Given the description of an element on the screen output the (x, y) to click on. 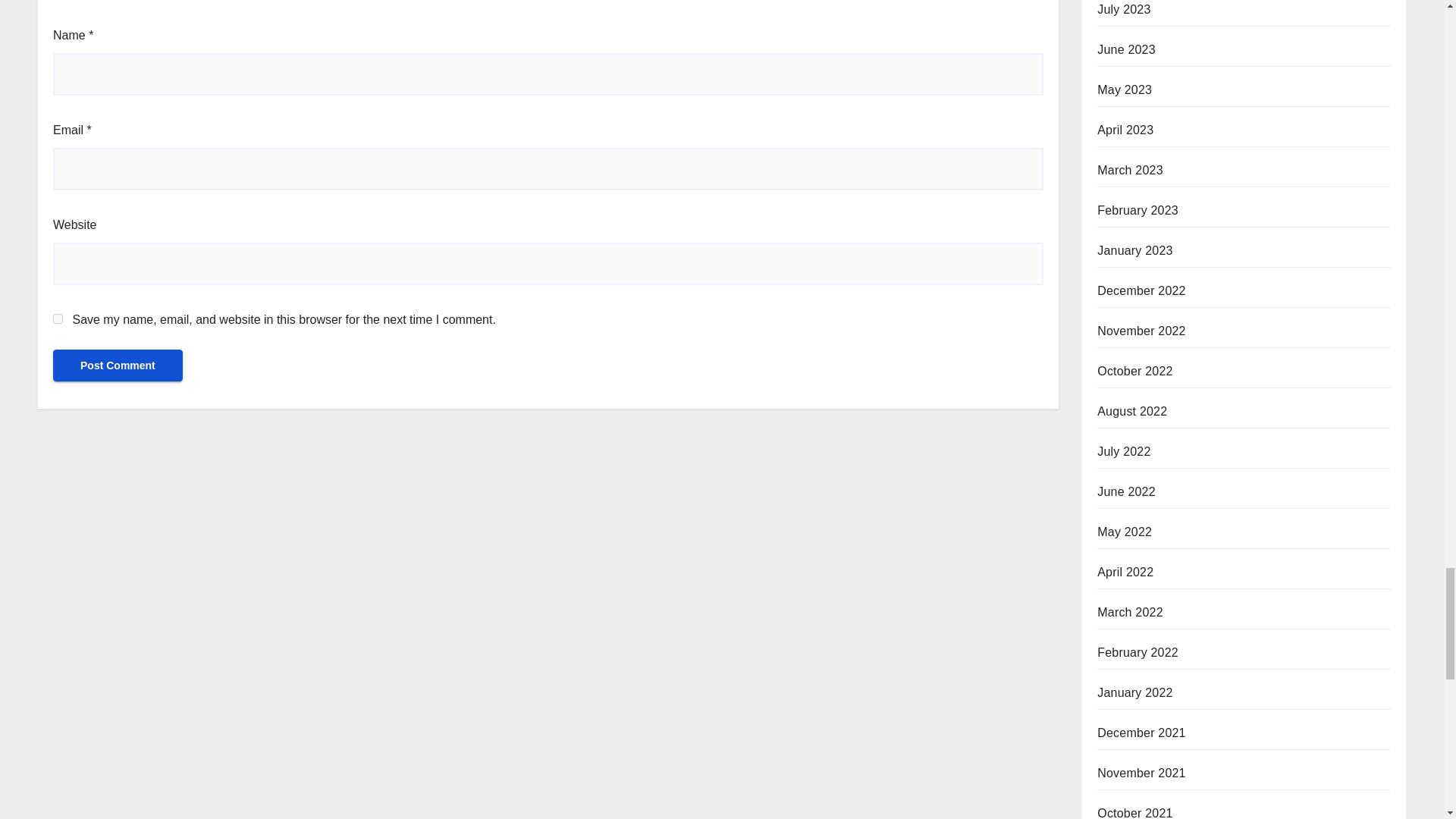
yes (57, 318)
Post Comment (117, 365)
